Given the description of an element on the screen output the (x, y) to click on. 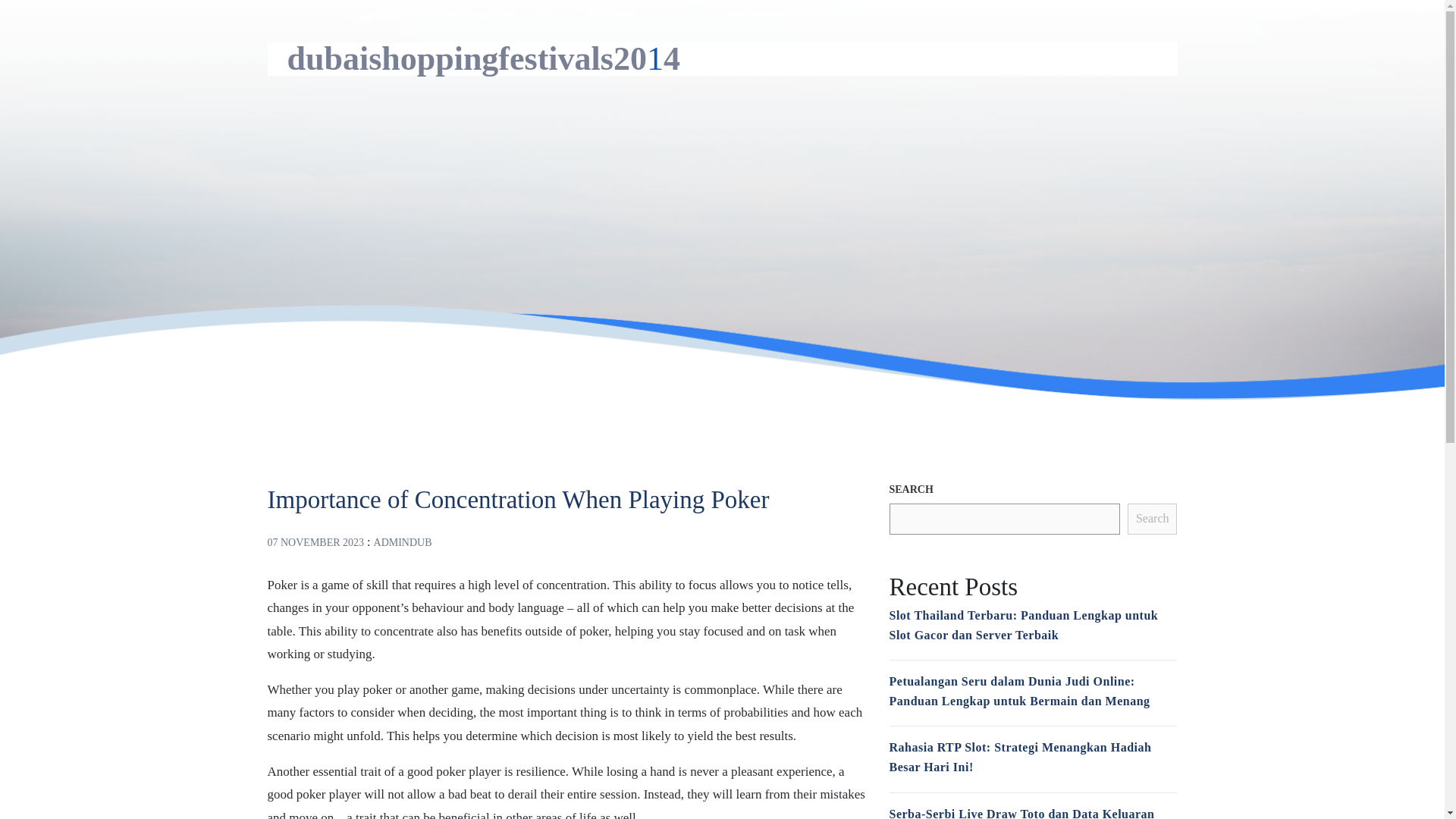
Rahasia RTP Slot: Strategi Menangkan Hadiah Besar Hari Ini! (1019, 757)
ADMINDUB (403, 542)
dubaishoppingfestivals2014 (482, 58)
Serba-Serbi Live Draw Toto dan Data Keluaran Terbaru 2024 (1021, 813)
07 NOVEMBER 2023 (315, 542)
Search (1151, 518)
